Given the description of an element on the screen output the (x, y) to click on. 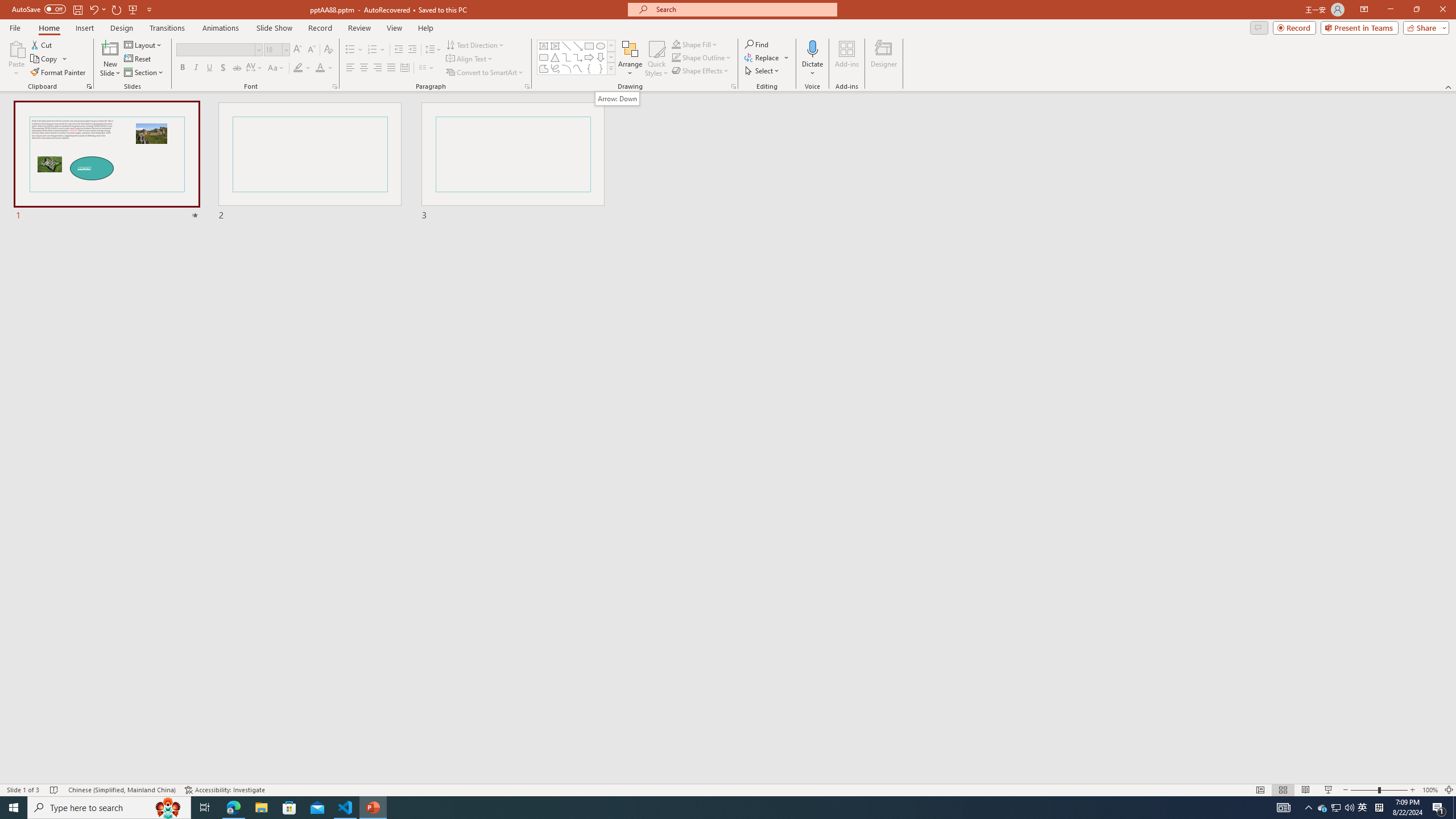
Font... (334, 85)
